Given the description of an element on the screen output the (x, y) to click on. 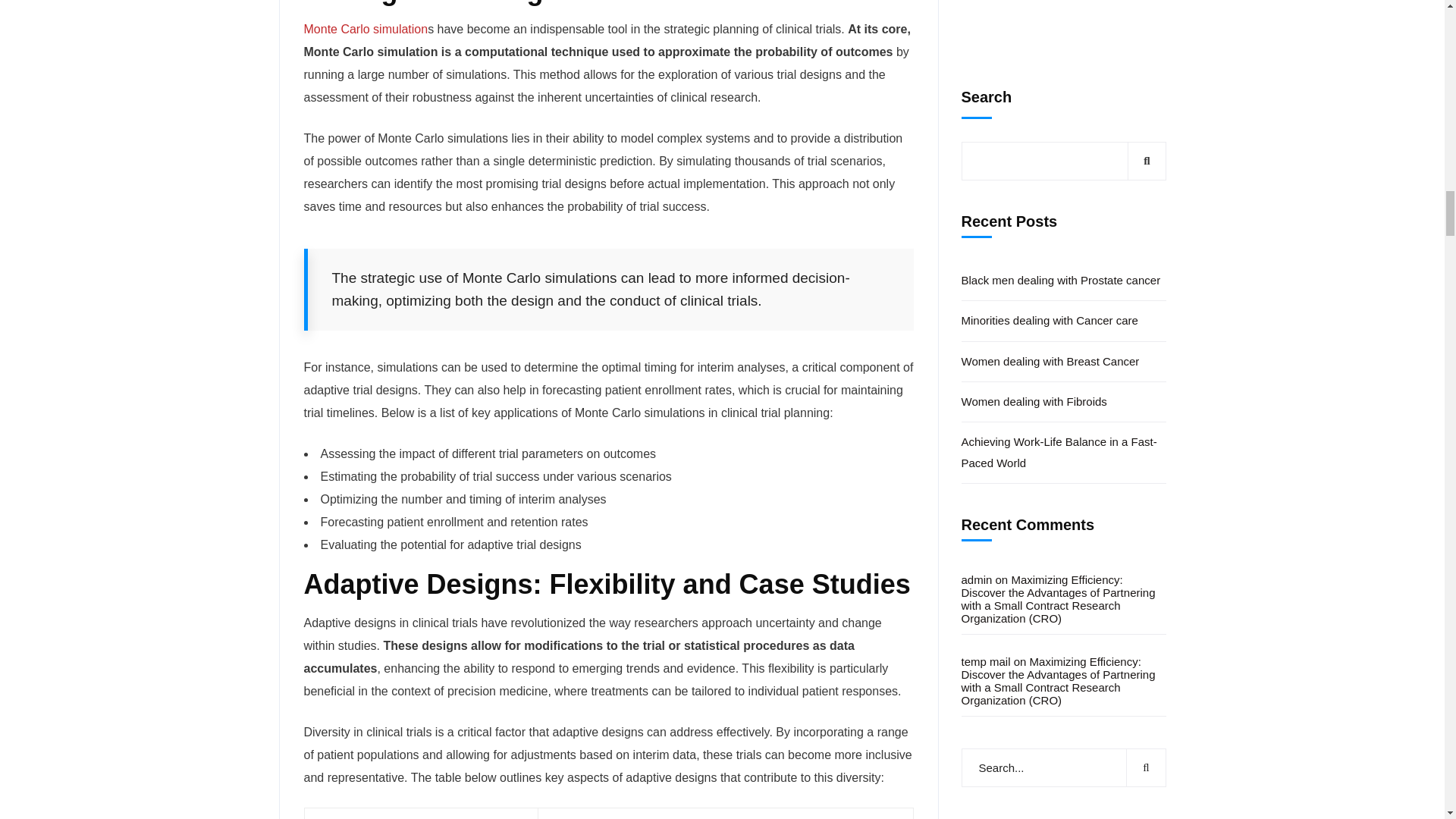
Monte Carlo simulation (365, 29)
